Given the description of an element on the screen output the (x, y) to click on. 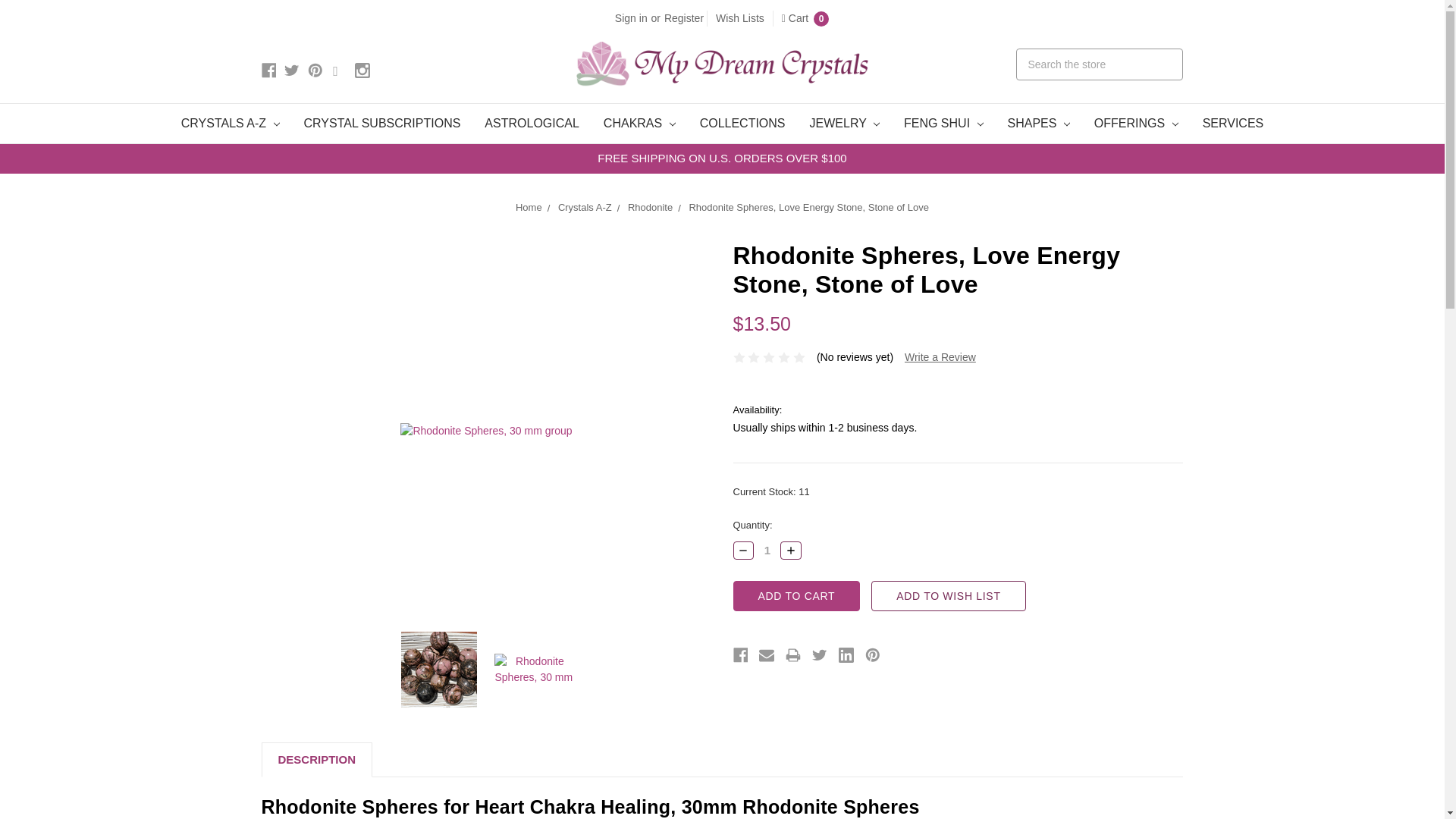
Rhodonite Spheres, 30 mm group (486, 430)
Wish Lists (740, 18)
Rhodonite Spheres, 30 mm group (439, 669)
Add to Cart (796, 595)
My Dream Crystals (721, 63)
CRYSTALS A-Z (230, 123)
Sign in (631, 18)
Cart 0 (805, 18)
Rhodonite Spheres, 30 mm (533, 669)
Add to wish list (947, 595)
